Given the description of an element on the screen output the (x, y) to click on. 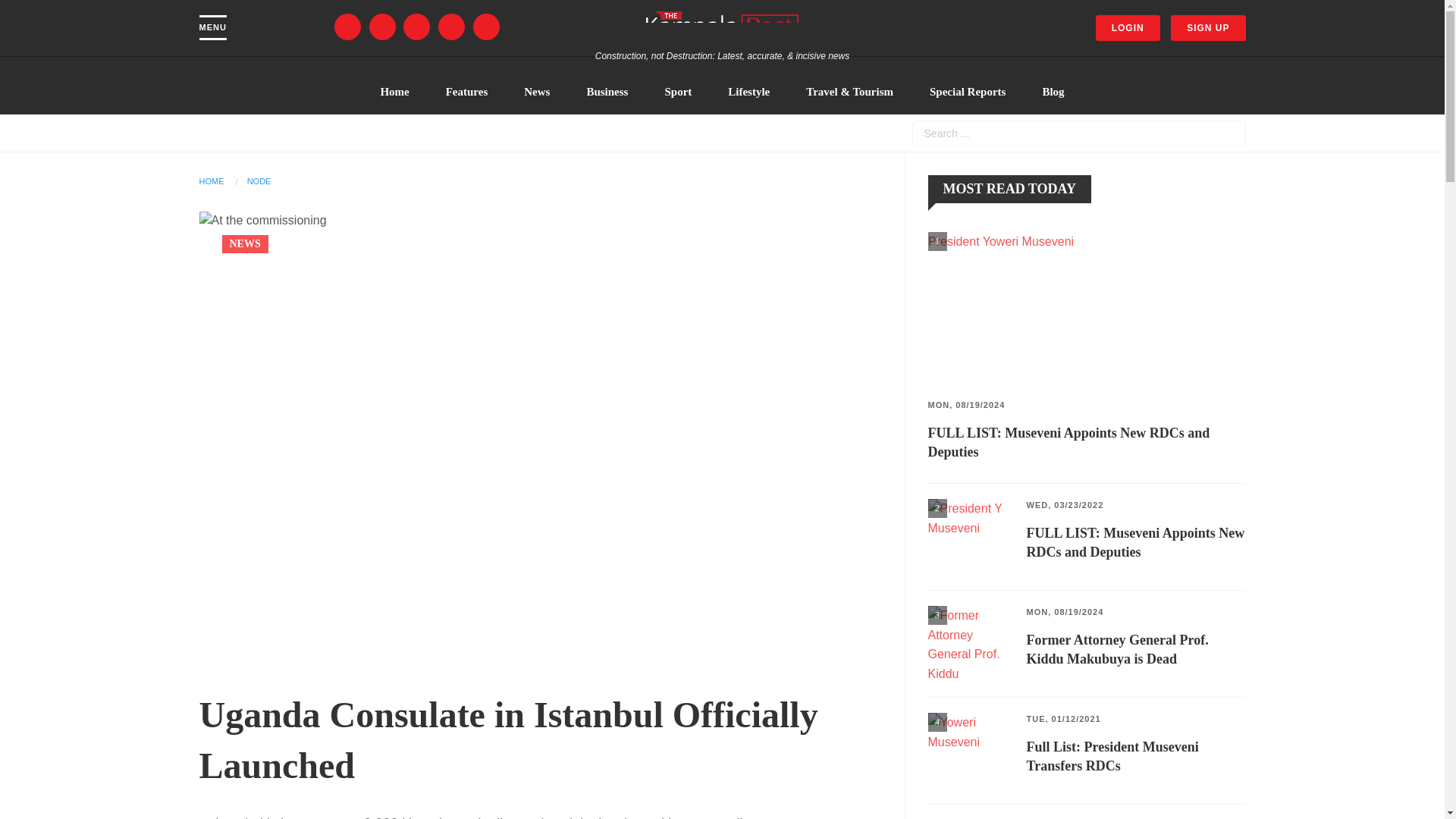
LOGIN (1128, 27)
Home (721, 29)
SIGN UP (1207, 27)
MENU (211, 27)
Home (393, 91)
Features (467, 91)
